Given the description of an element on the screen output the (x, y) to click on. 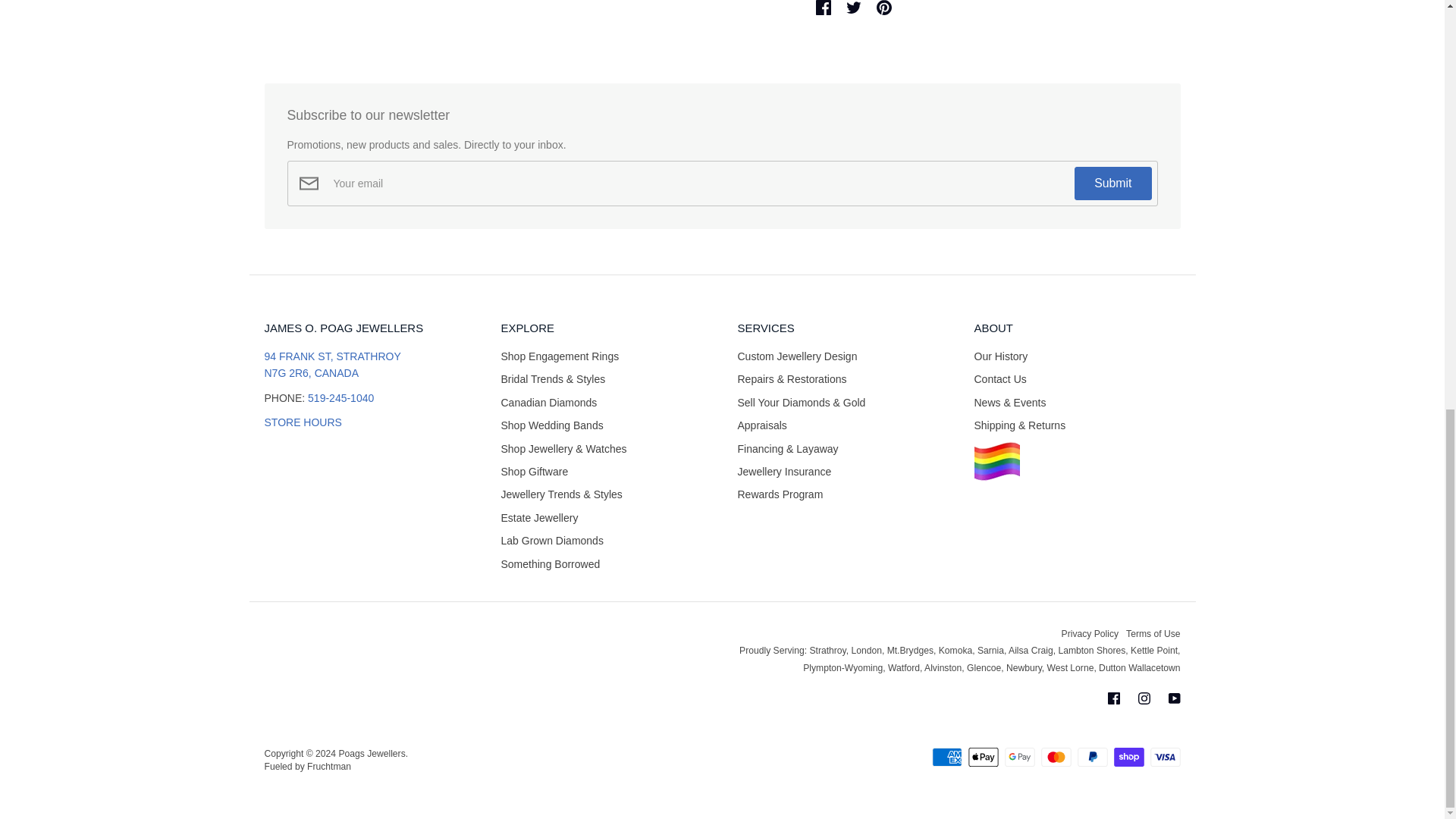
Contact Us (301, 422)
Visa (1164, 756)
Shop Pay (1128, 756)
Apple Pay (983, 756)
PayPal (1092, 756)
Mastercard (1056, 756)
Google Pay (1019, 756)
American Express (946, 756)
tel:5192451040 (340, 398)
